Given the description of an element on the screen output the (x, y) to click on. 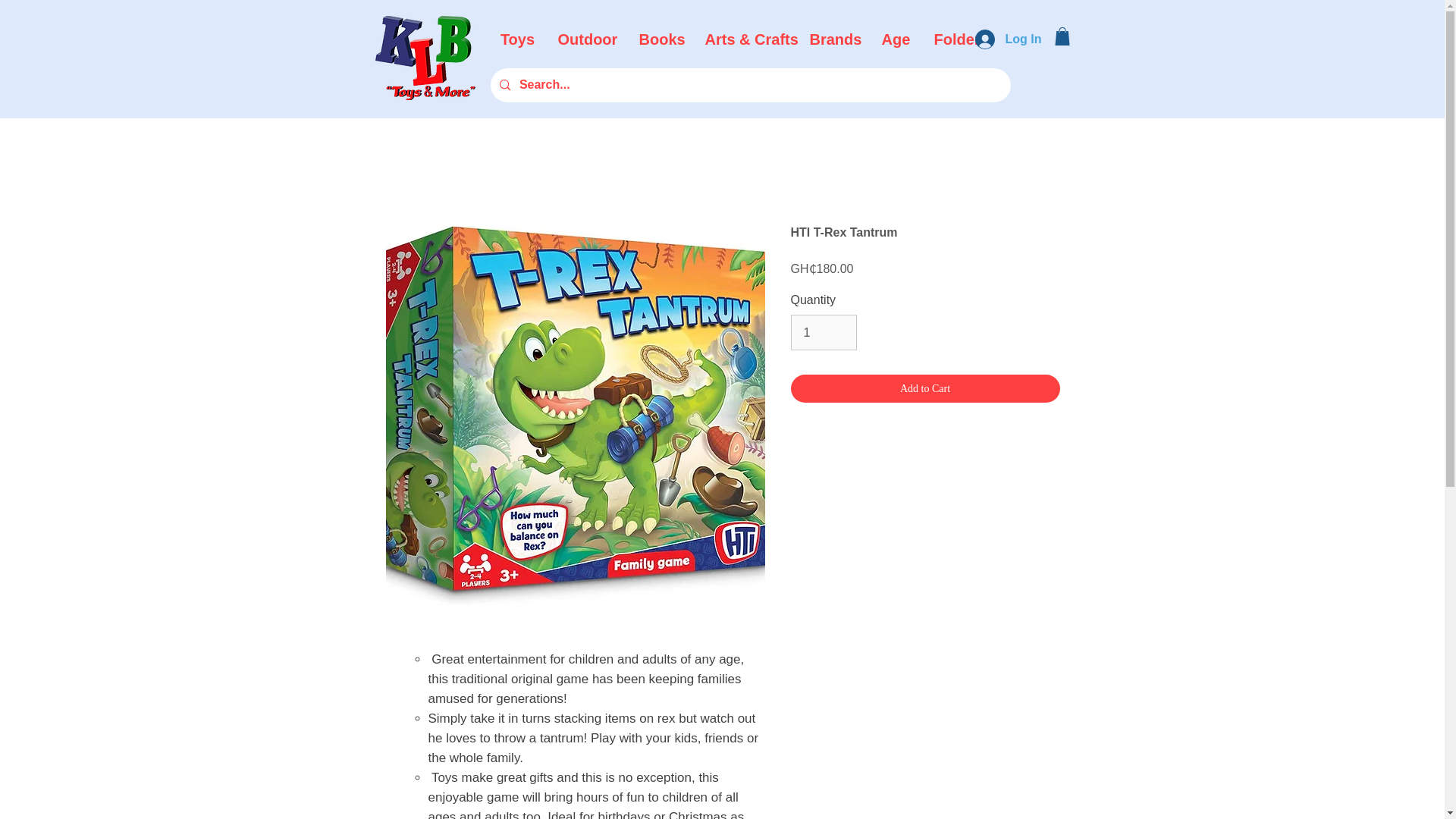
Brands (833, 39)
Toys (516, 39)
Age (895, 39)
1 (823, 331)
Books (660, 39)
Outdoor (586, 39)
